Given the description of an element on the screen output the (x, y) to click on. 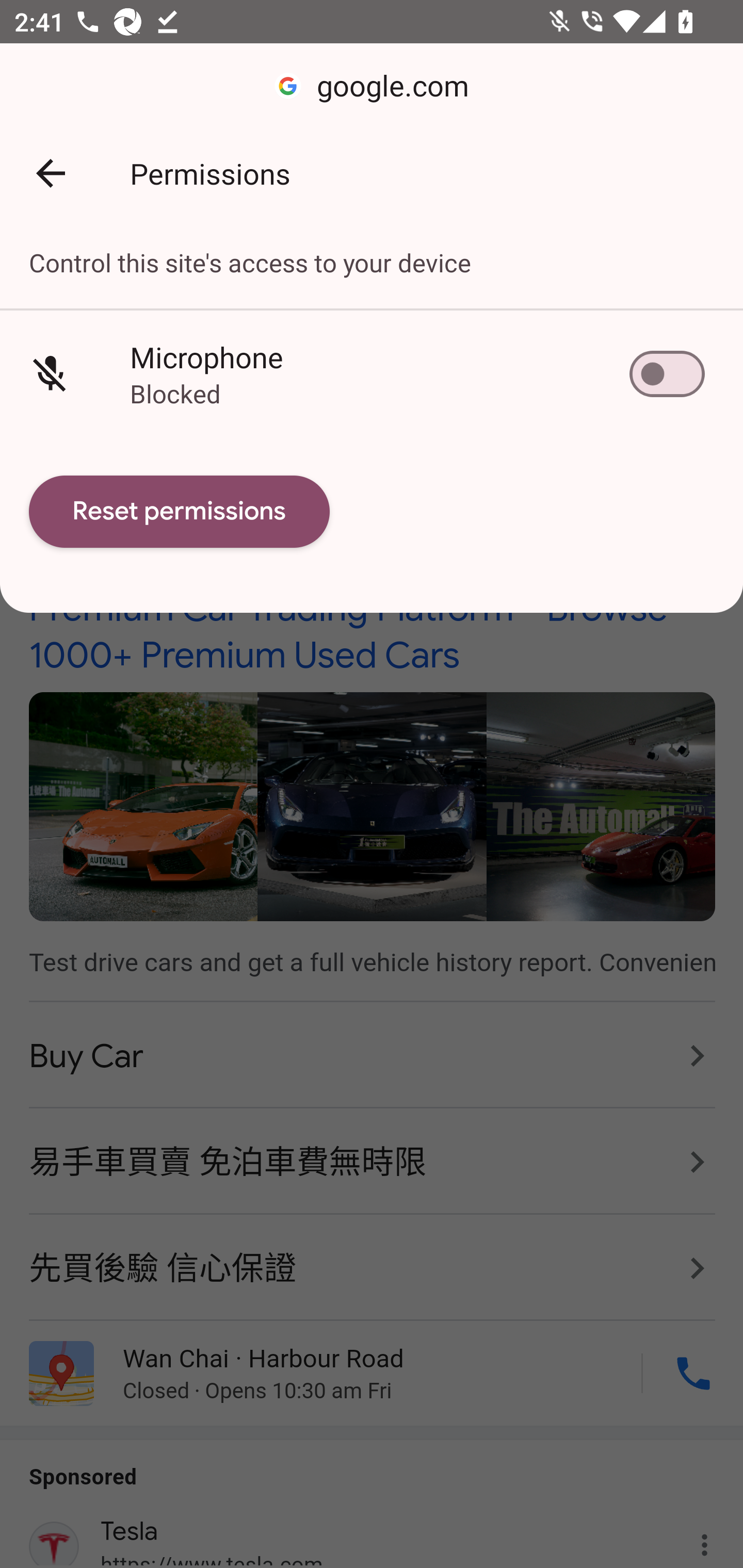
google.com (371, 86)
Back (50, 173)
Microphone Blocked (371, 373)
Reset permissions (178, 511)
